Given the description of an element on the screen output the (x, y) to click on. 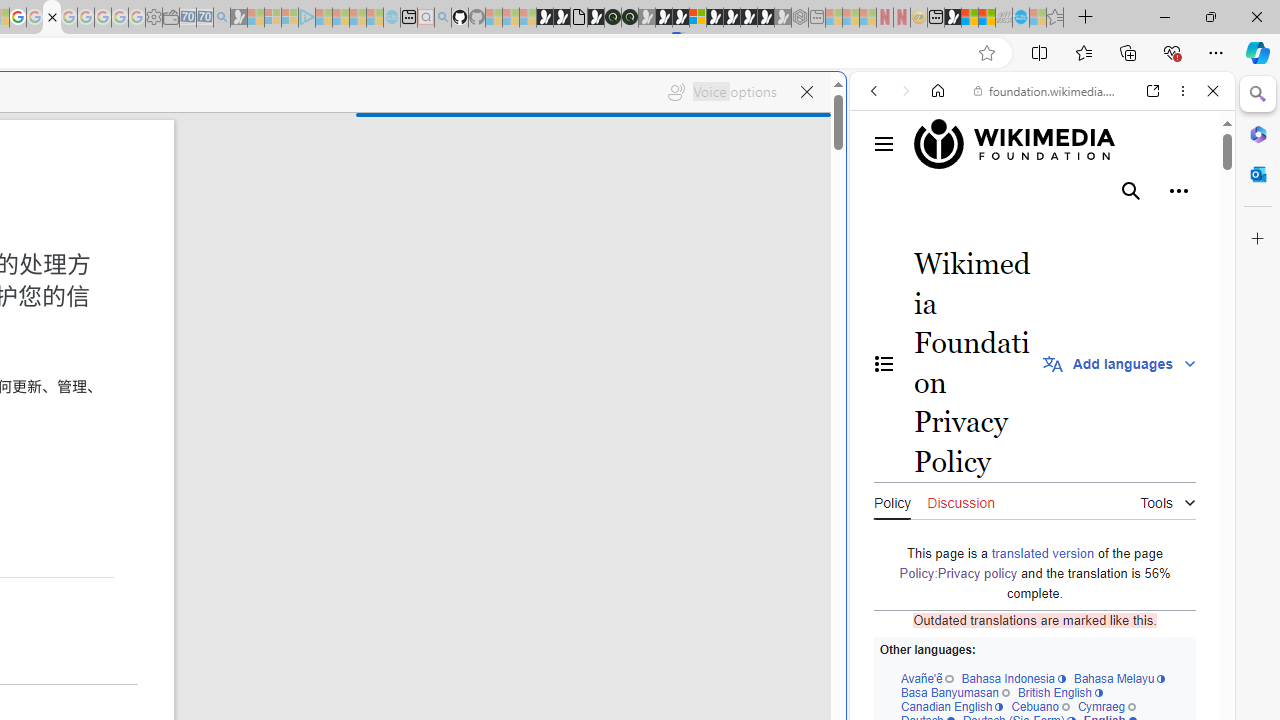
Wiktionary (1034, 669)
Global web icon (888, 669)
Class: b_serphb (1190, 229)
Search Filter, WEB (882, 228)
Play Zoo Boom in your browser | Games from Microsoft Start (561, 17)
Wikimedia Foundation Governance Wiki (1024, 143)
IMAGES (939, 228)
Bahasa Melayu (1119, 678)
Voice options (721, 92)
